Given the description of an element on the screen output the (x, y) to click on. 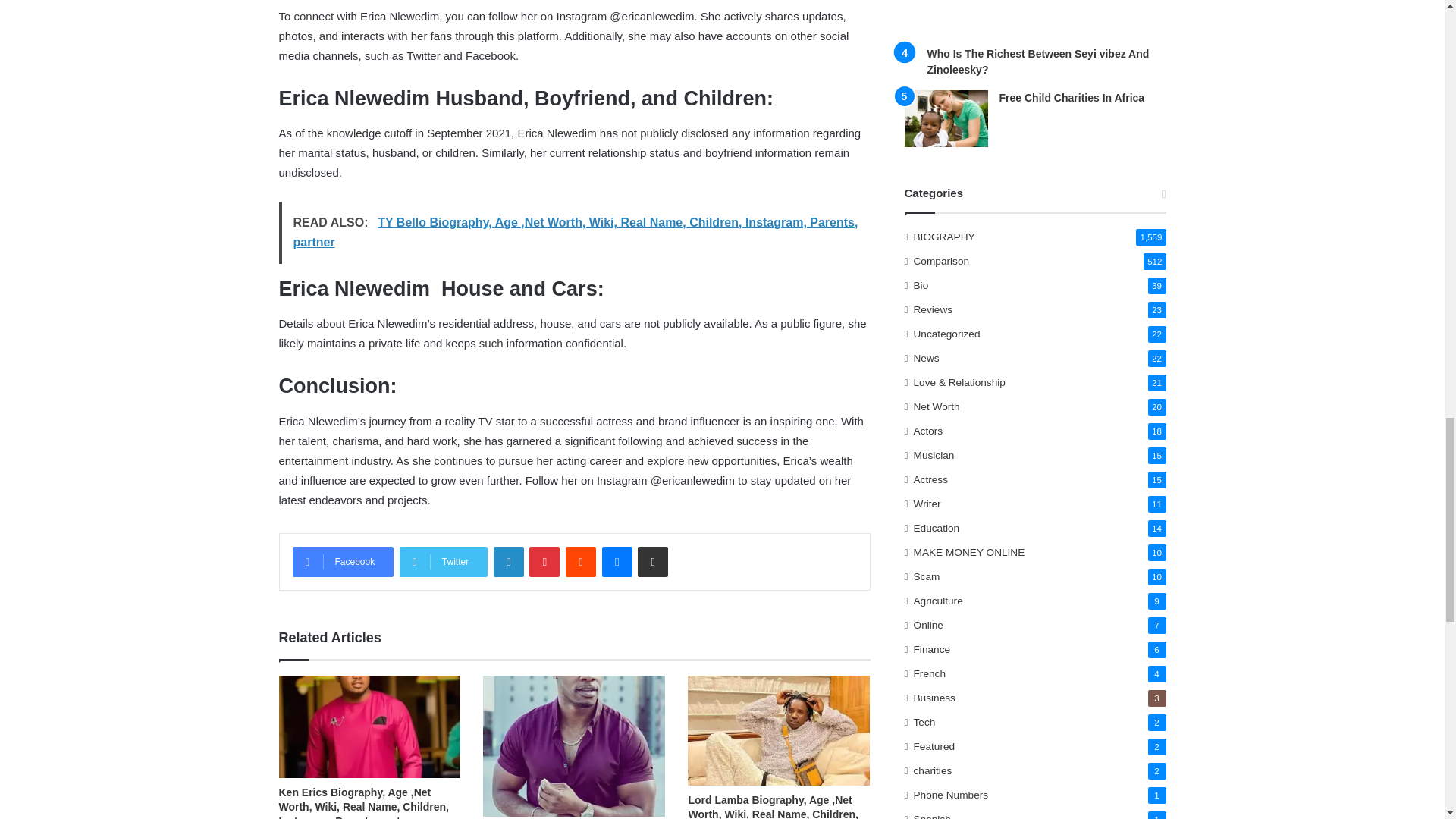
Facebook (343, 562)
Reddit (580, 562)
Messenger (616, 562)
Pinterest (544, 562)
Reddit (580, 562)
Messenger (616, 562)
Twitter (442, 562)
LinkedIn (508, 562)
Share via Email (652, 562)
Pinterest (544, 562)
Twitter (442, 562)
Facebook (343, 562)
